Given the description of an element on the screen output the (x, y) to click on. 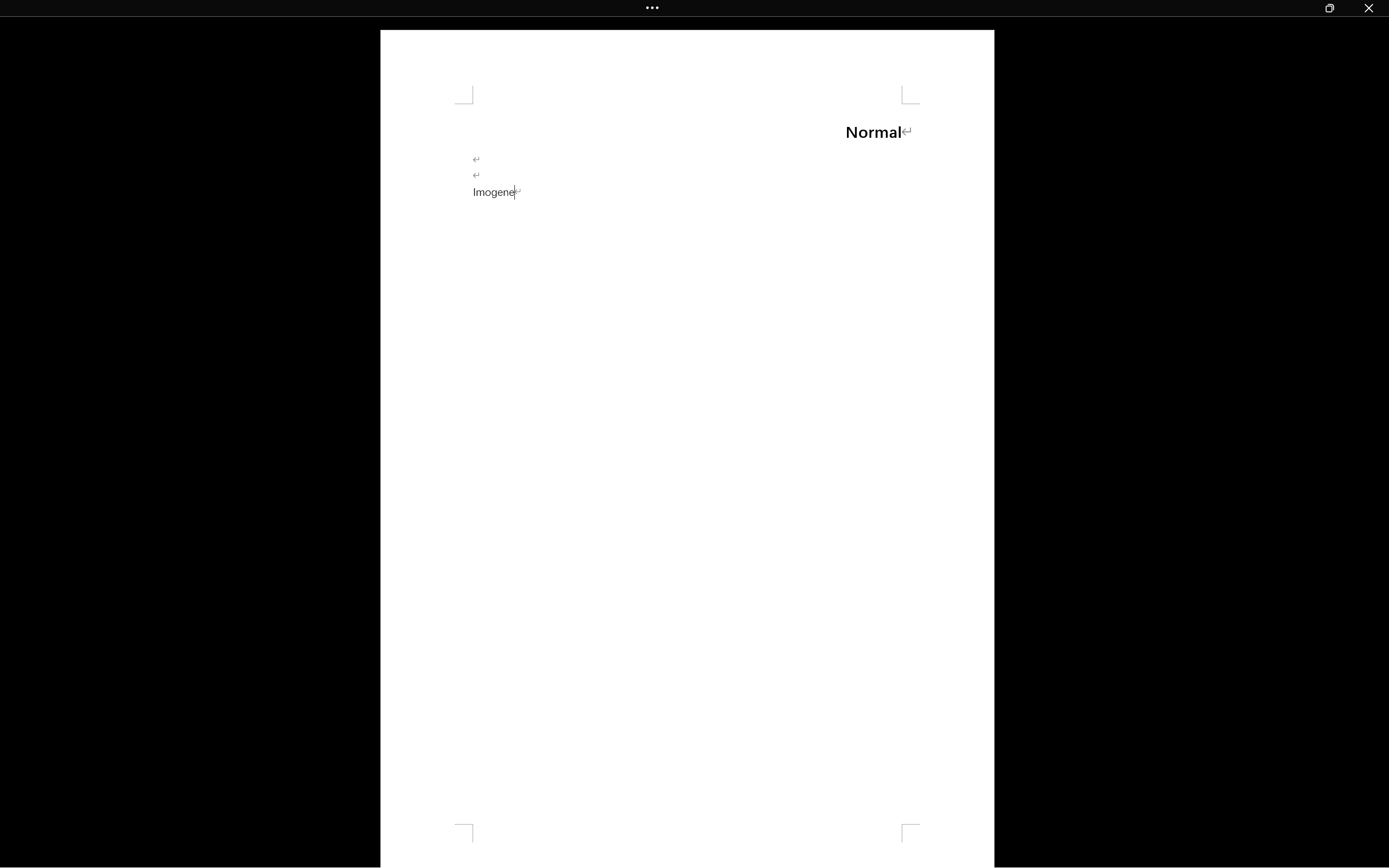
Cameo (49, 62)
Reset to Cameo (257, 62)
Audio (184, 62)
Activate (459, 105)
Screen Recording (157, 62)
